Given the description of an element on the screen output the (x, y) to click on. 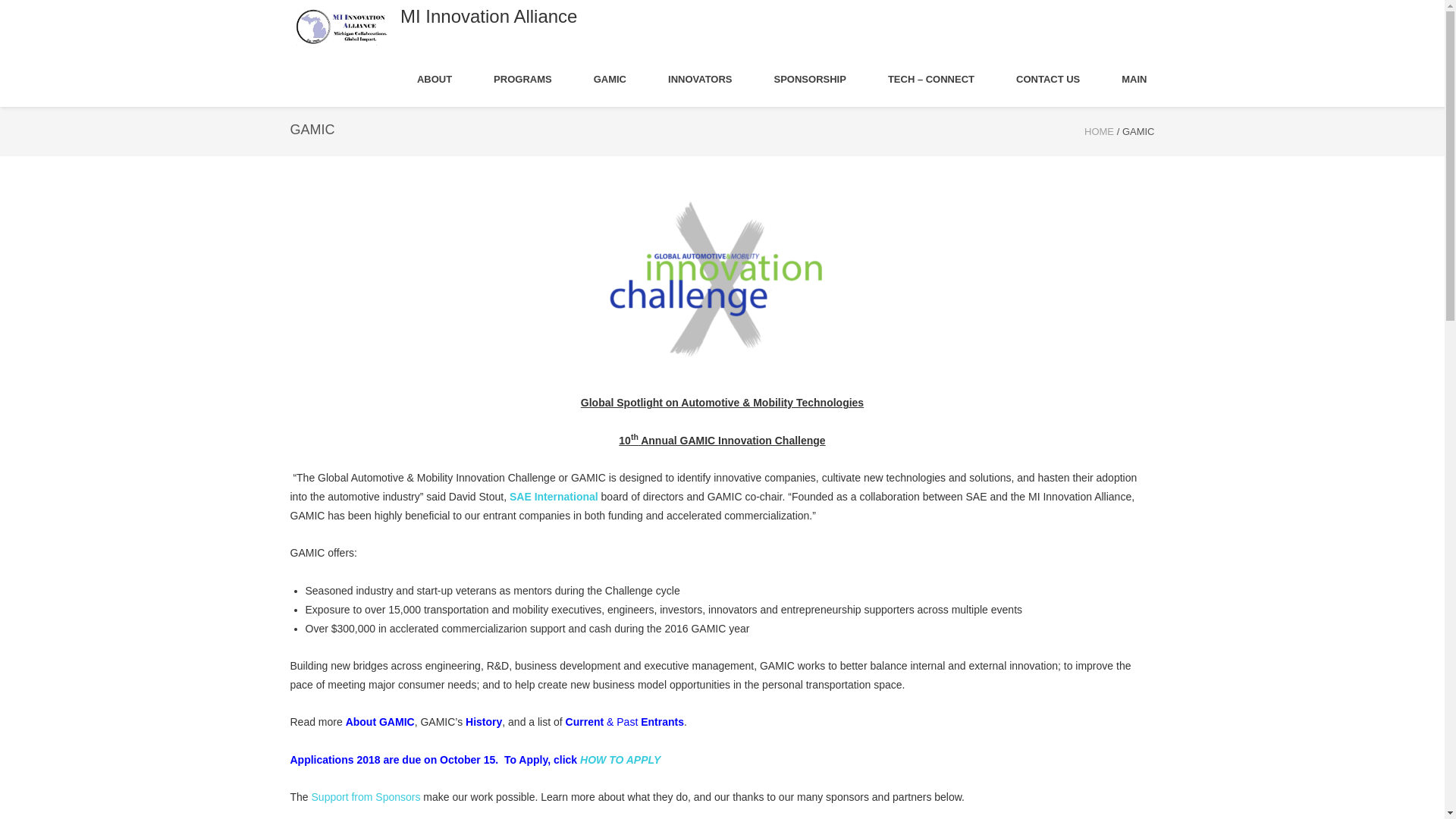
SPONSORSHIP (810, 79)
GAMIC (609, 79)
ABOUT (434, 79)
PROGRAMS (522, 79)
MI Innovation Alliance (1098, 131)
MI Innovation Alliance (488, 16)
CONTACT US (1048, 79)
INNOVATORS (700, 79)
